Given the description of an element on the screen output the (x, y) to click on. 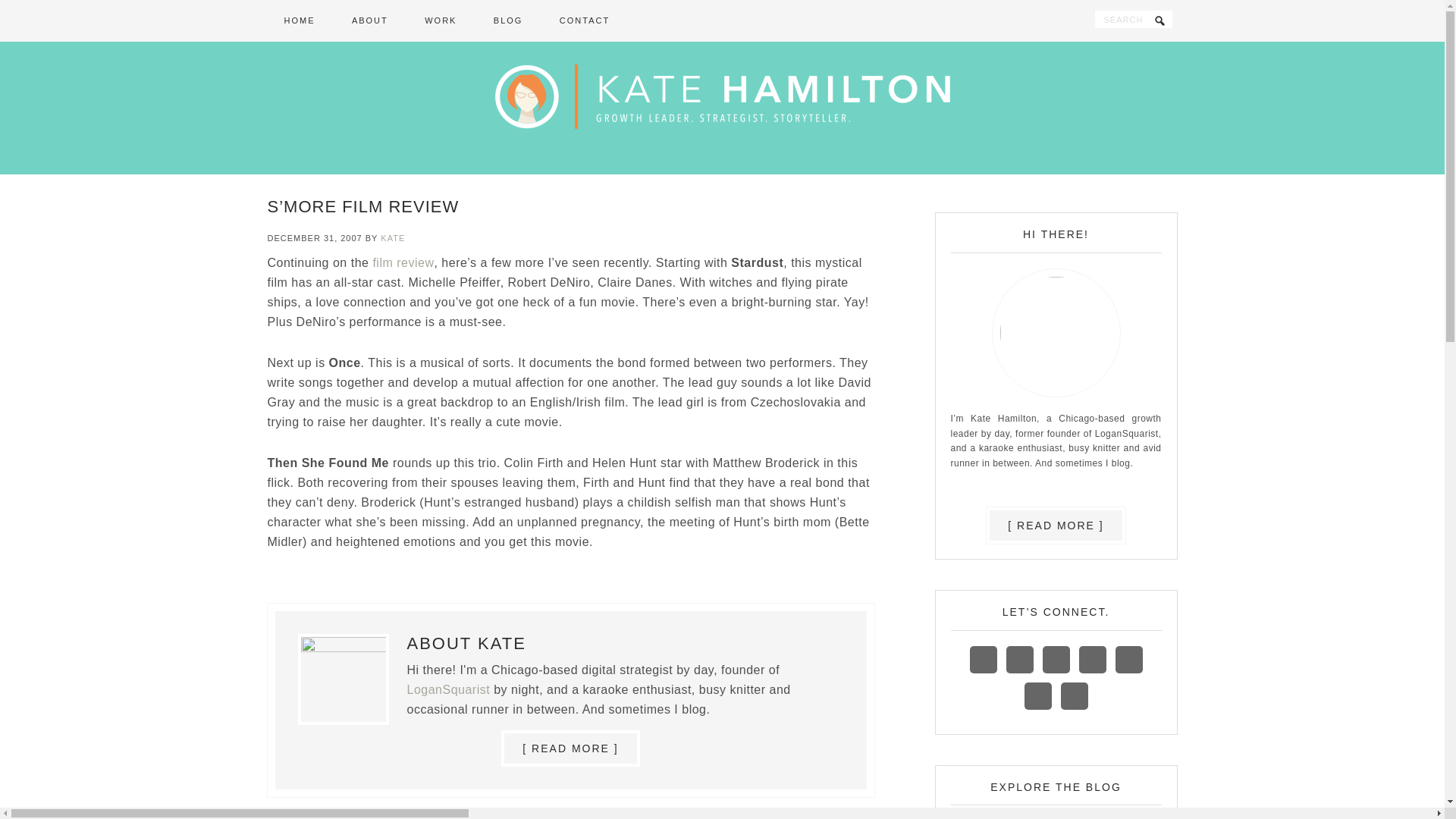
LoganSquarist (447, 689)
CONTACT (584, 20)
WORK (440, 20)
KATE (392, 237)
film review (402, 262)
HOME (298, 20)
BLOG (508, 20)
Kate Hamilton (722, 104)
ABOUT (369, 20)
